Given the description of an element on the screen output the (x, y) to click on. 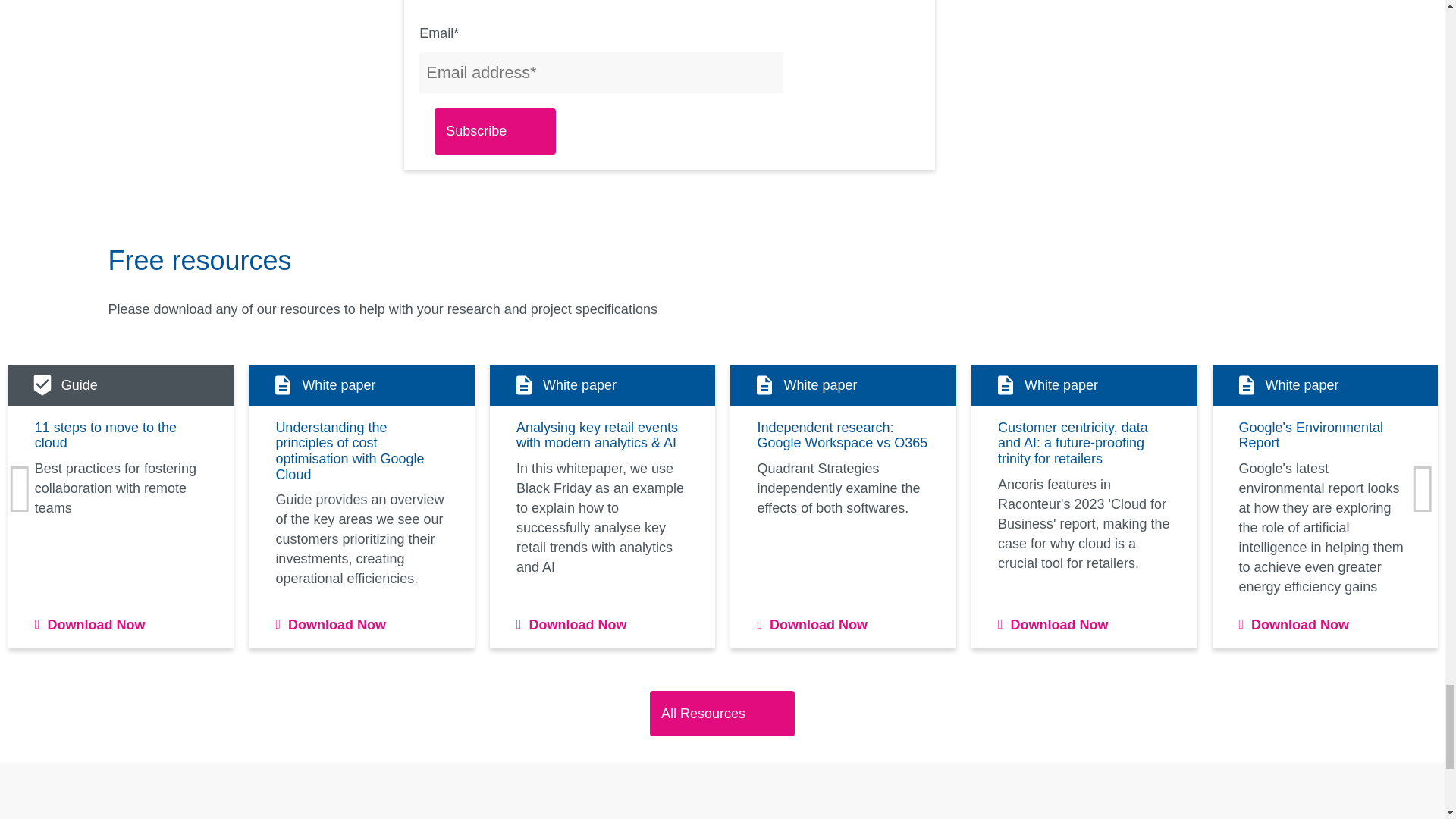
Subscribe (494, 131)
Subscribe (494, 131)
